Given the description of an element on the screen output the (x, y) to click on. 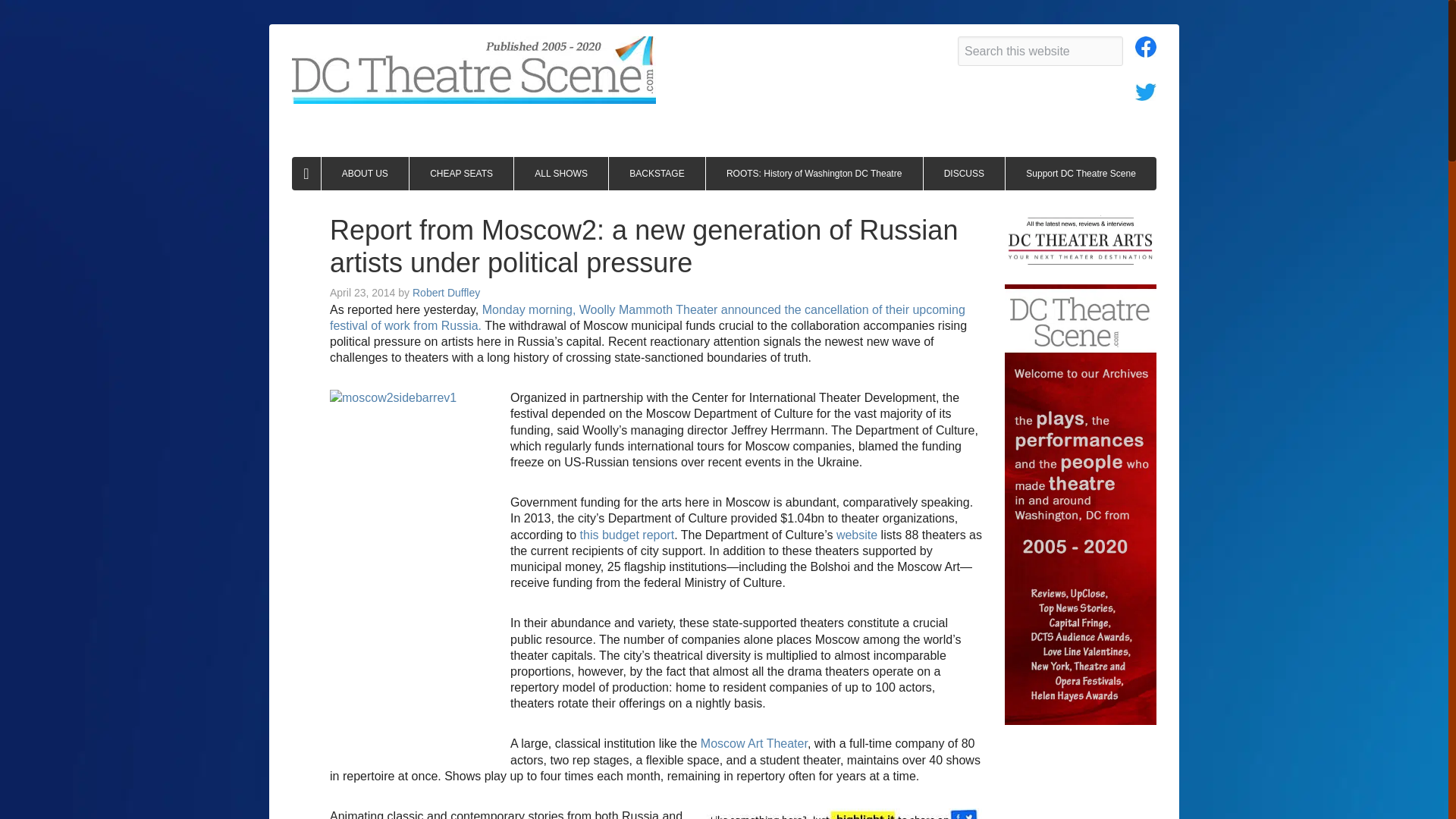
DISCUSS (964, 173)
this budget report (627, 534)
Follow DC Theatre Scene on Facebook (1145, 51)
Follow DC Theatre Scene on Twitter (1145, 93)
BACKSTAGE (657, 173)
ABOUT US (365, 173)
CHEAP SEATS (461, 173)
website (856, 534)
Robert Duffley (446, 292)
ROOTS: History of Washington DC Theatre (814, 173)
DC Theatre Scene (474, 70)
